Given the description of an element on the screen output the (x, y) to click on. 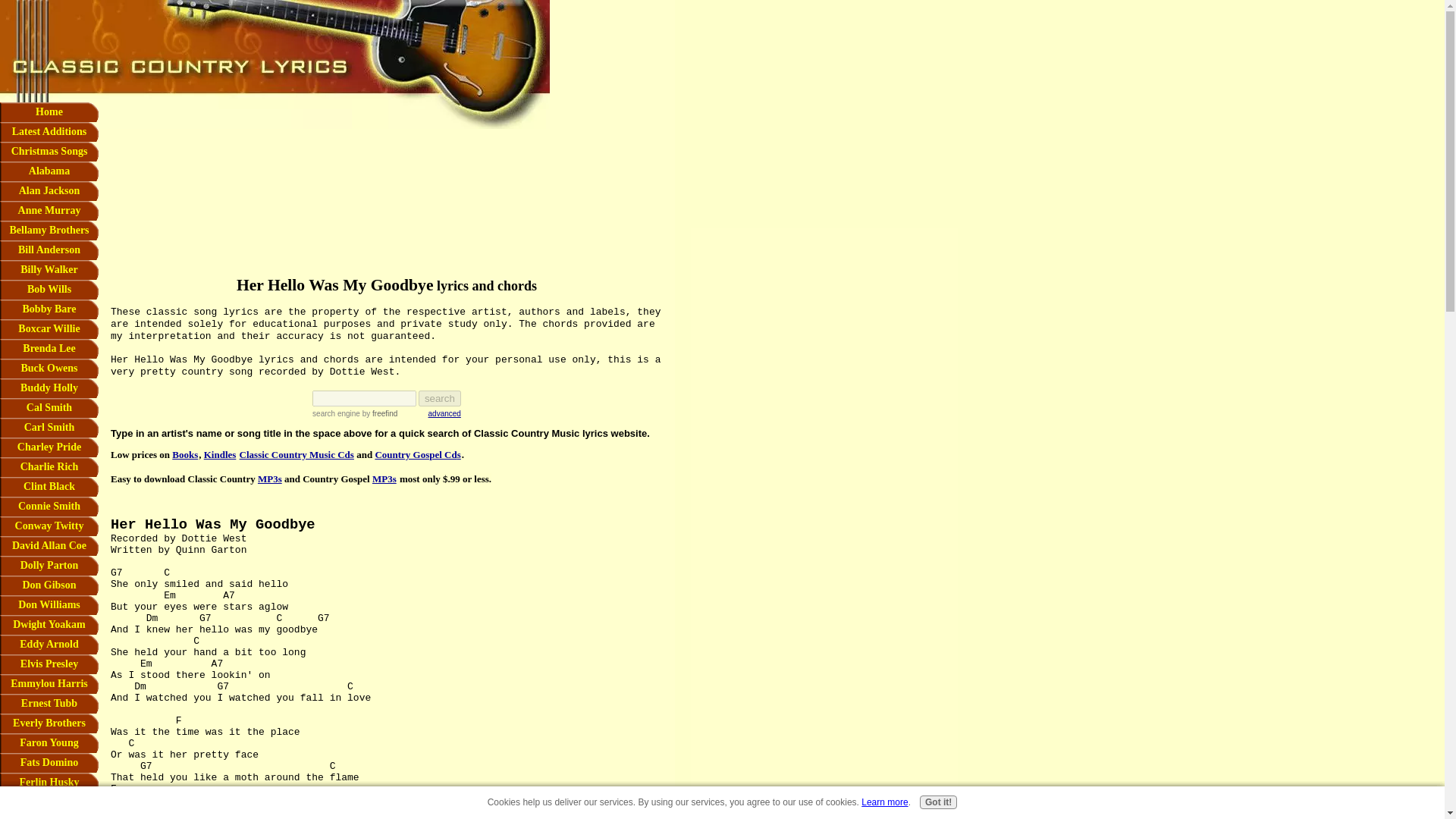
Alabama (49, 170)
Emmylou Harris (49, 683)
Charlie Rich (49, 466)
Bob Wills (49, 289)
search (440, 398)
Faron Young (49, 742)
Dolly Parton (49, 565)
Cal Smith (49, 407)
Home (49, 112)
Charley Pride (49, 447)
Brenda Lee (49, 348)
Dwight Yoakam (49, 624)
Garth Brooks (49, 802)
Bellamy Brothers (49, 230)
Don Williams (49, 605)
